Given the description of an element on the screen output the (x, y) to click on. 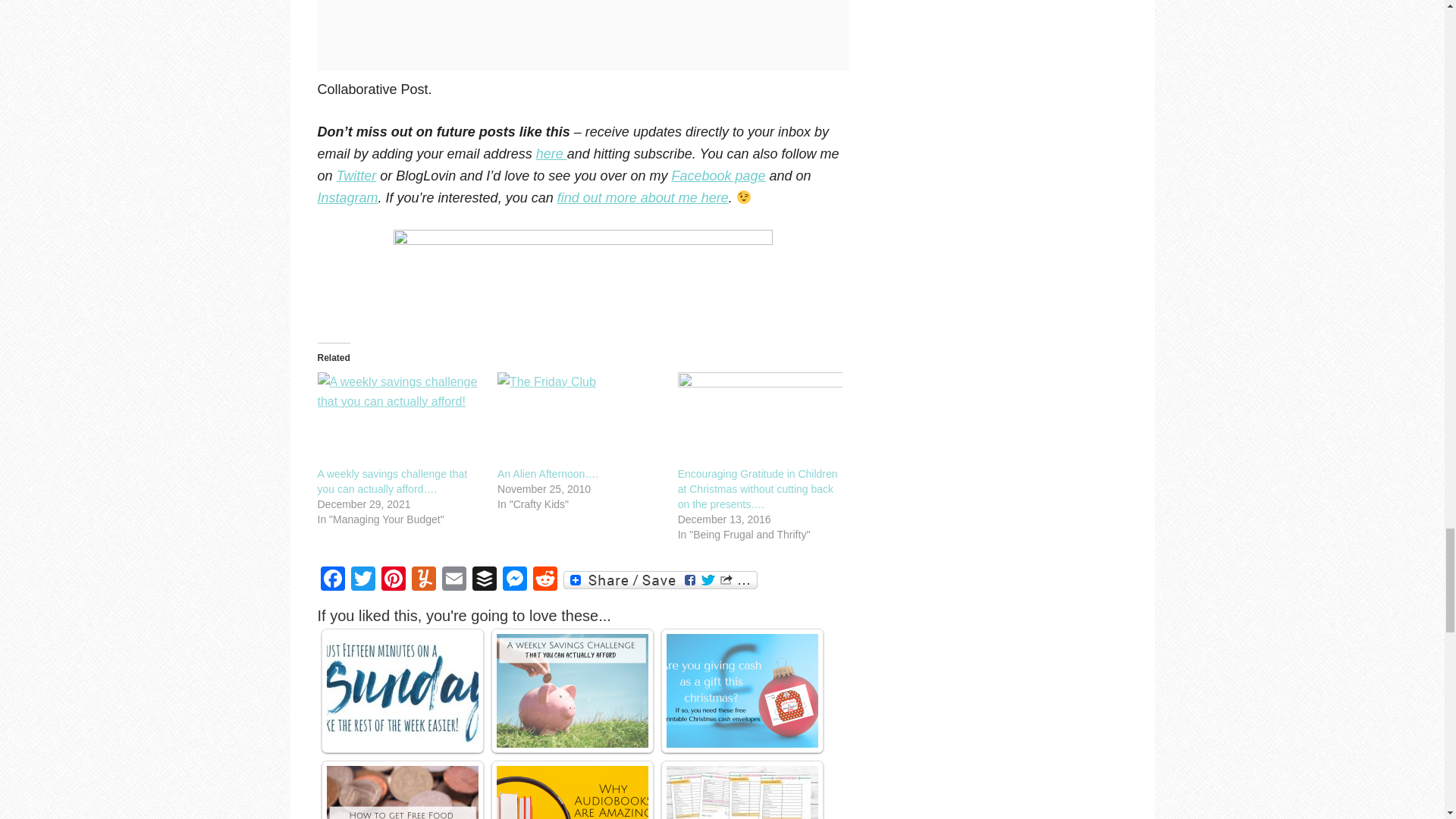
Buffer (483, 580)
Pinterest (392, 580)
Facebook page (718, 175)
Email (453, 580)
Twitter (362, 580)
Messenger (514, 580)
Facebook (332, 580)
Twitter (356, 175)
Instagram (347, 197)
find out more about me here (643, 197)
Yummly (422, 580)
here (551, 153)
